Given the description of an element on the screen output the (x, y) to click on. 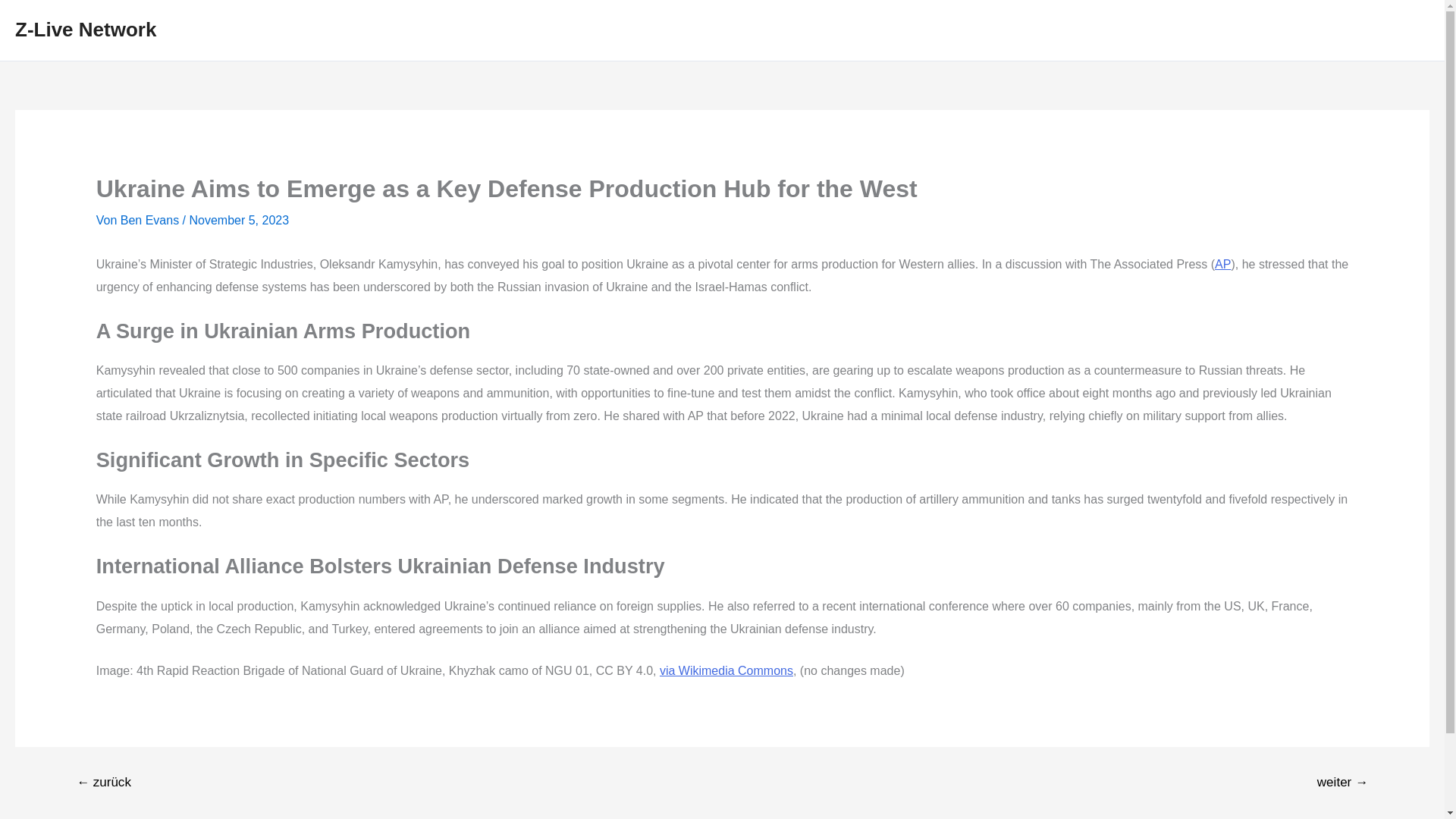
Z-Live Network (84, 29)
via Wikimedia Commons (726, 670)
Ben Evans (151, 219)
AP (1222, 264)
